Given the description of an element on the screen output the (x, y) to click on. 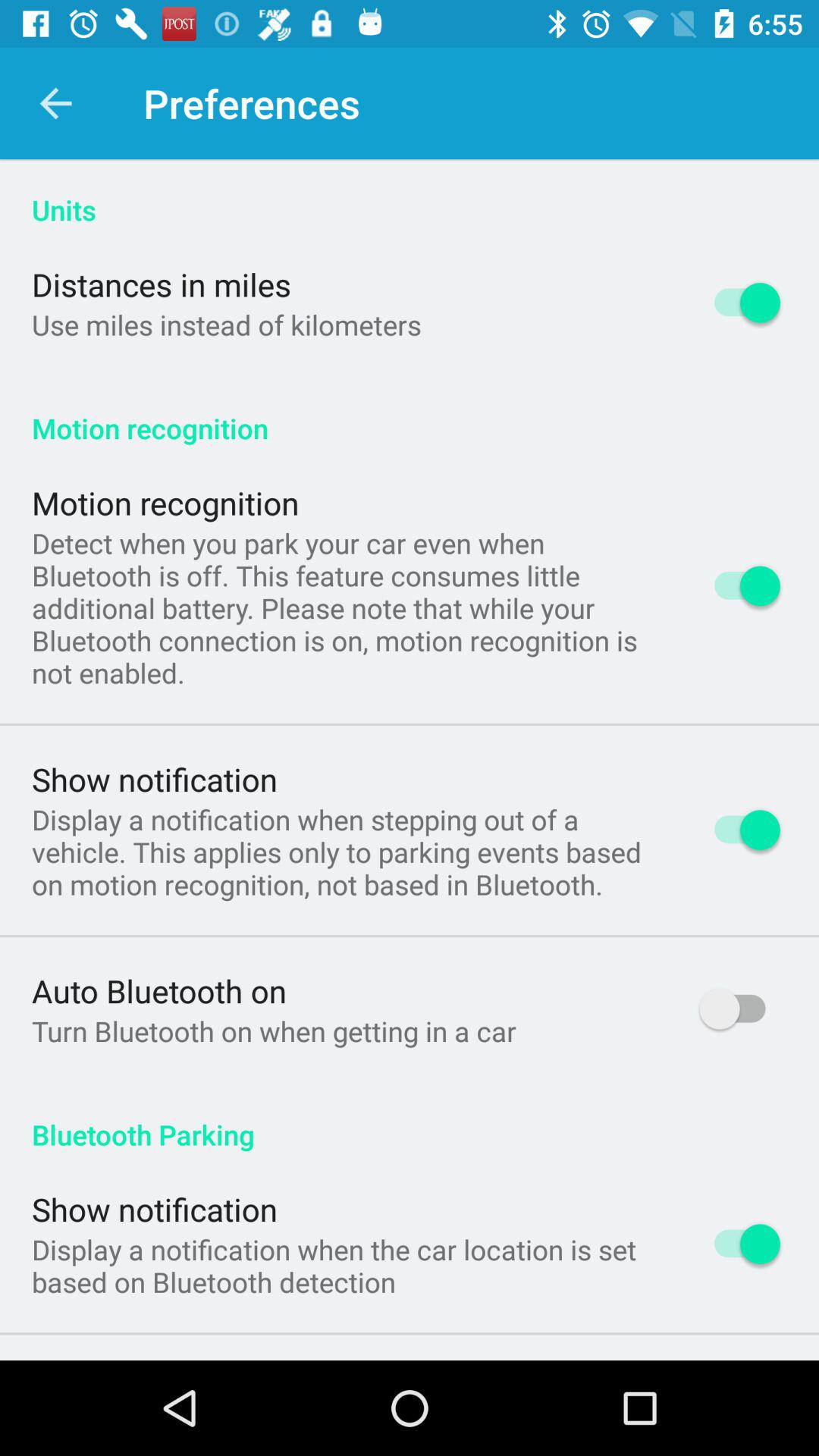
turn off icon below the distances in miles item (226, 324)
